Given the description of an element on the screen output the (x, y) to click on. 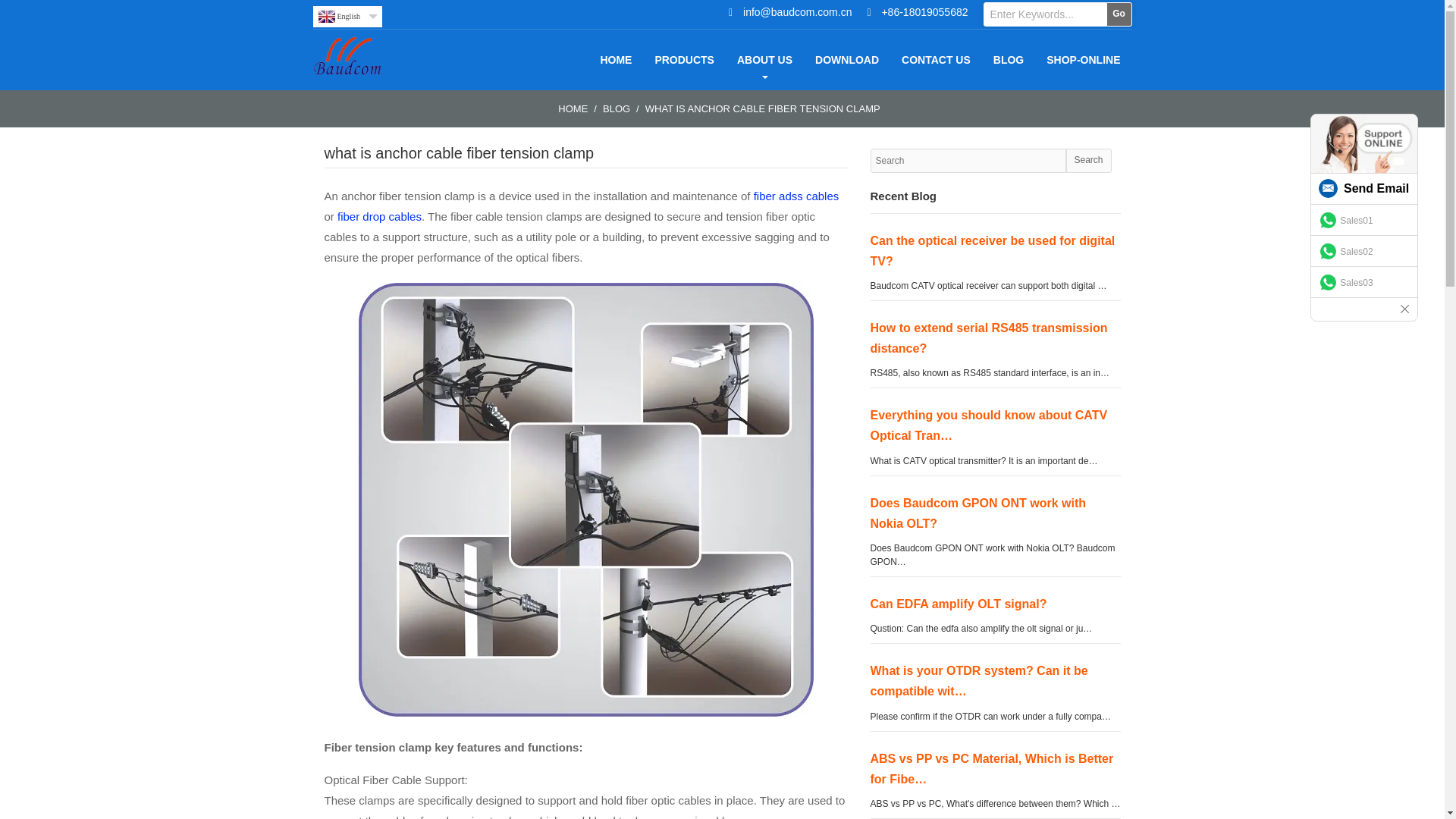
Does Baudcom GPON ONT work with Nokia OLT? (978, 512)
Go (1118, 14)
Go (1118, 14)
Can the optical receiver be used for digital TV? (992, 249)
Search (1088, 160)
How to extend serial RS485 transmission distance? (989, 337)
SHOP-ONLINE (1082, 59)
PRODUCTS (683, 59)
Enter Keywords... (1043, 14)
Search (1088, 160)
Enter Keywords... (1043, 14)
English (347, 16)
ABOUT US (764, 59)
CONTACT US (936, 59)
Search (1088, 160)
